Given the description of an element on the screen output the (x, y) to click on. 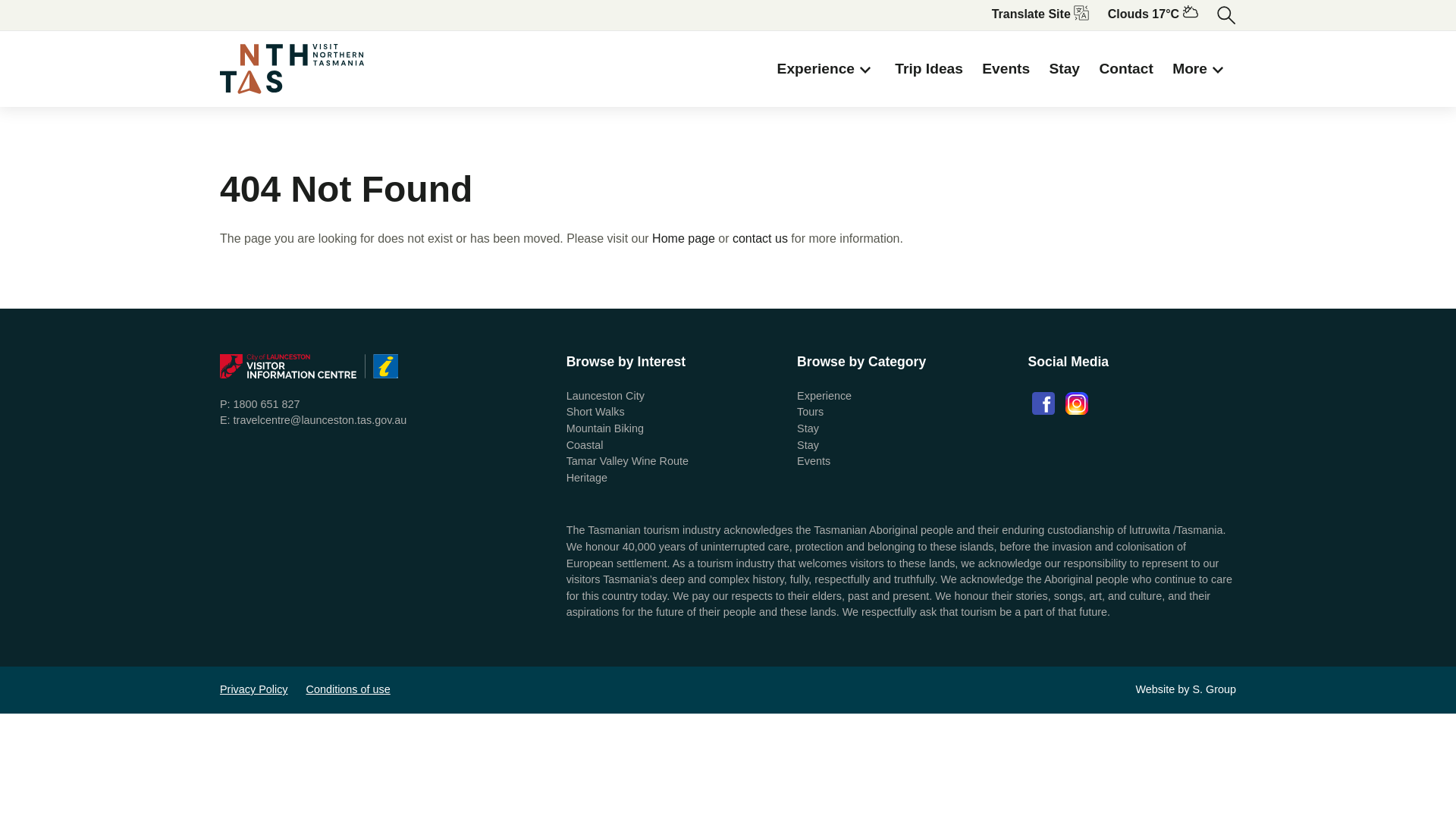
Privacy Policy Element type: text (253, 689)
Stay Element type: text (808, 428)
Instagram Element type: text (1076, 403)
Stay Element type: text (808, 445)
Tamar Valley Wine Route Element type: text (627, 461)
Events Element type: text (813, 461)
contact us Element type: text (759, 238)
Tours Element type: text (810, 411)
Mountain Biking Element type: text (604, 428)
Stay Element type: text (1064, 68)
Website by S. Group Element type: text (1185, 689)
Coastal Element type: text (584, 445)
More Element type: text (1200, 68)
Home page Element type: text (683, 238)
Experience Element type: text (824, 395)
Short Walks Element type: text (595, 411)
Heritage Element type: text (586, 477)
Events Element type: text (1005, 68)
Trip Ideas Element type: text (928, 68)
Experience Element type: text (826, 68)
Facebook Element type: text (1043, 403)
Conditions of use Element type: text (348, 689)
Launceston City Element type: text (605, 395)
Contact Element type: text (1125, 68)
